Given the description of an element on the screen output the (x, y) to click on. 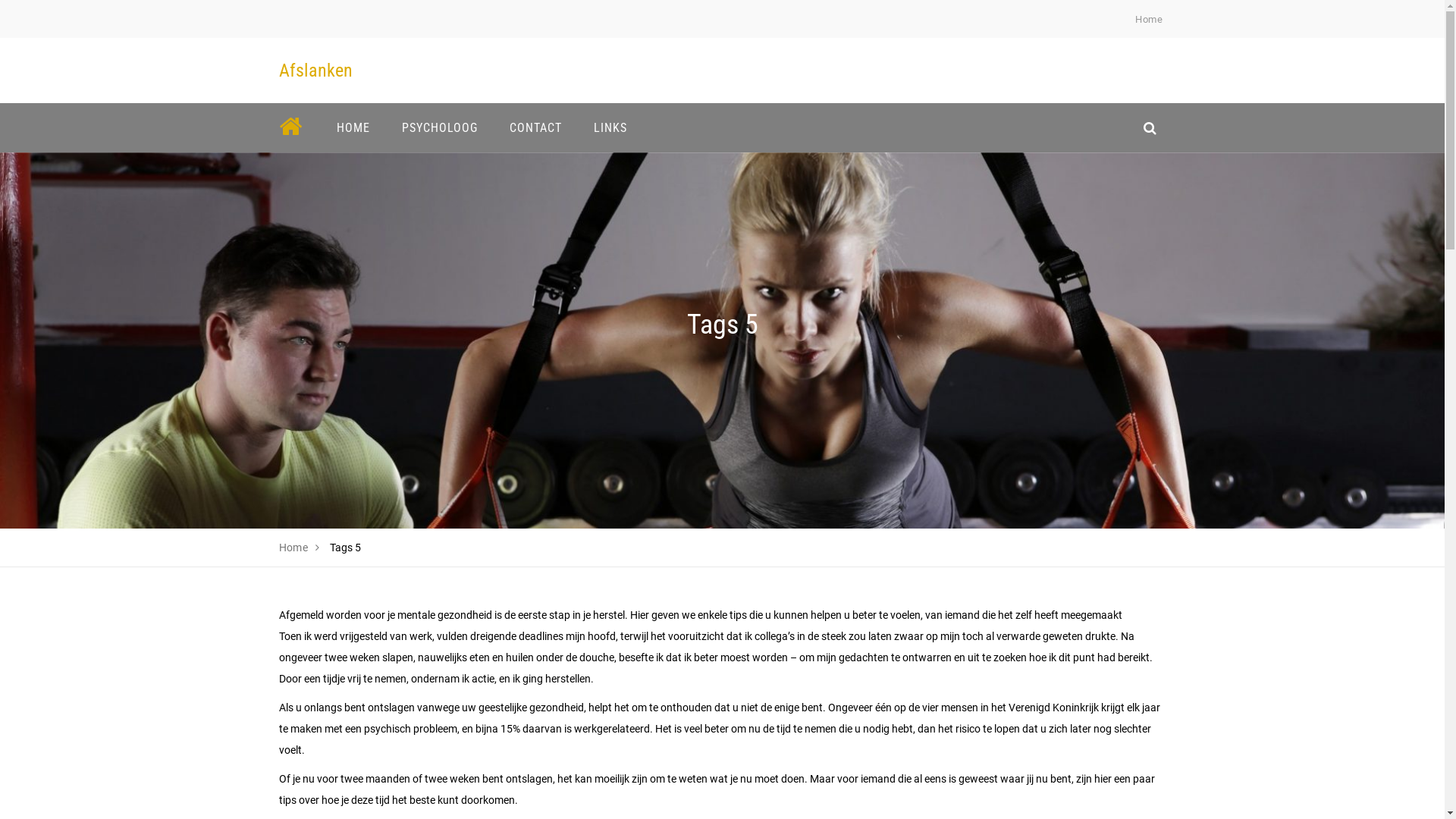
HOME Element type: text (352, 127)
Afslanken Element type: text (315, 70)
Home Element type: text (1148, 19)
PSYCHOLOOG Element type: text (438, 127)
LINKS Element type: text (610, 127)
Home Element type: text (293, 547)
CONTACT Element type: text (534, 127)
search_icon Element type: hover (1148, 127)
